Given the description of an element on the screen output the (x, y) to click on. 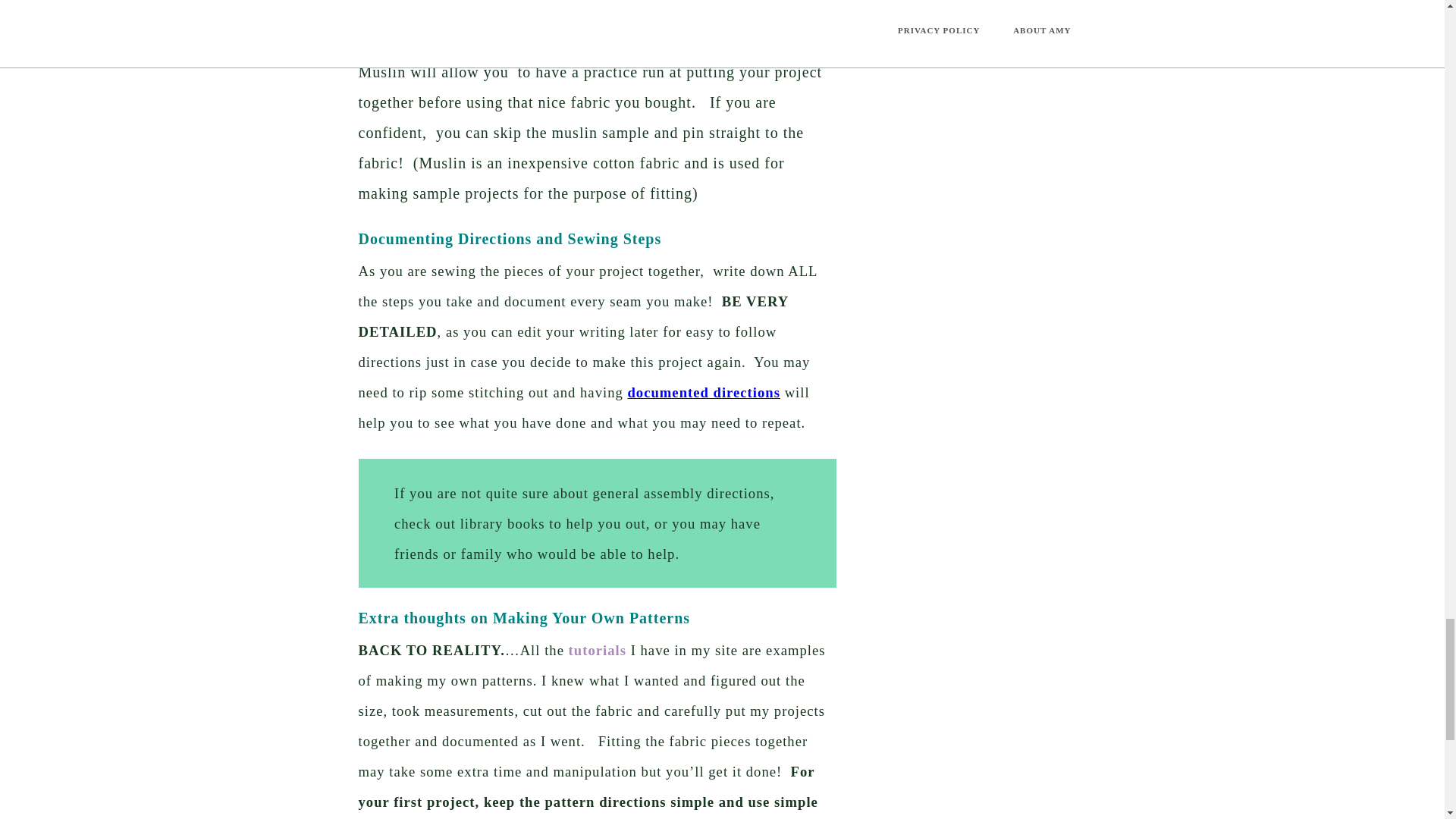
tutorials (597, 650)
documented directions (703, 392)
